Given the description of an element on the screen output the (x, y) to click on. 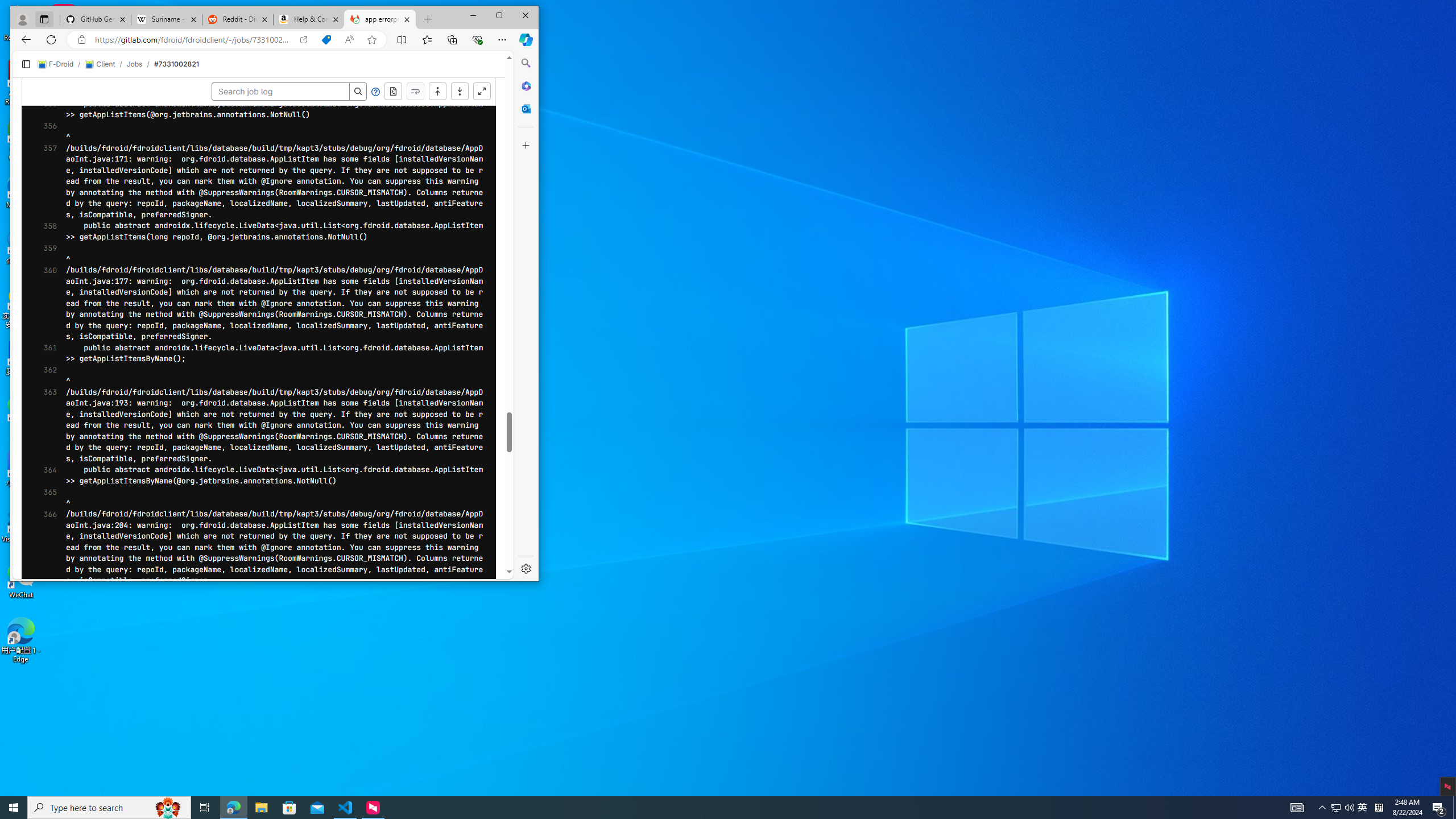
362 (47, 375)
Task View (204, 807)
Notification Chevron (1322, 807)
Show full screen (481, 91)
356 (1335, 807)
F-Droid (47, 131)
Microsoft Edge - 1 running window (55, 63)
358 (233, 807)
Microsoft Store (47, 231)
Open in app (289, 807)
357 (303, 39)
Type here to search (47, 181)
Show desktop (108, 807)
